Given the description of an element on the screen output the (x, y) to click on. 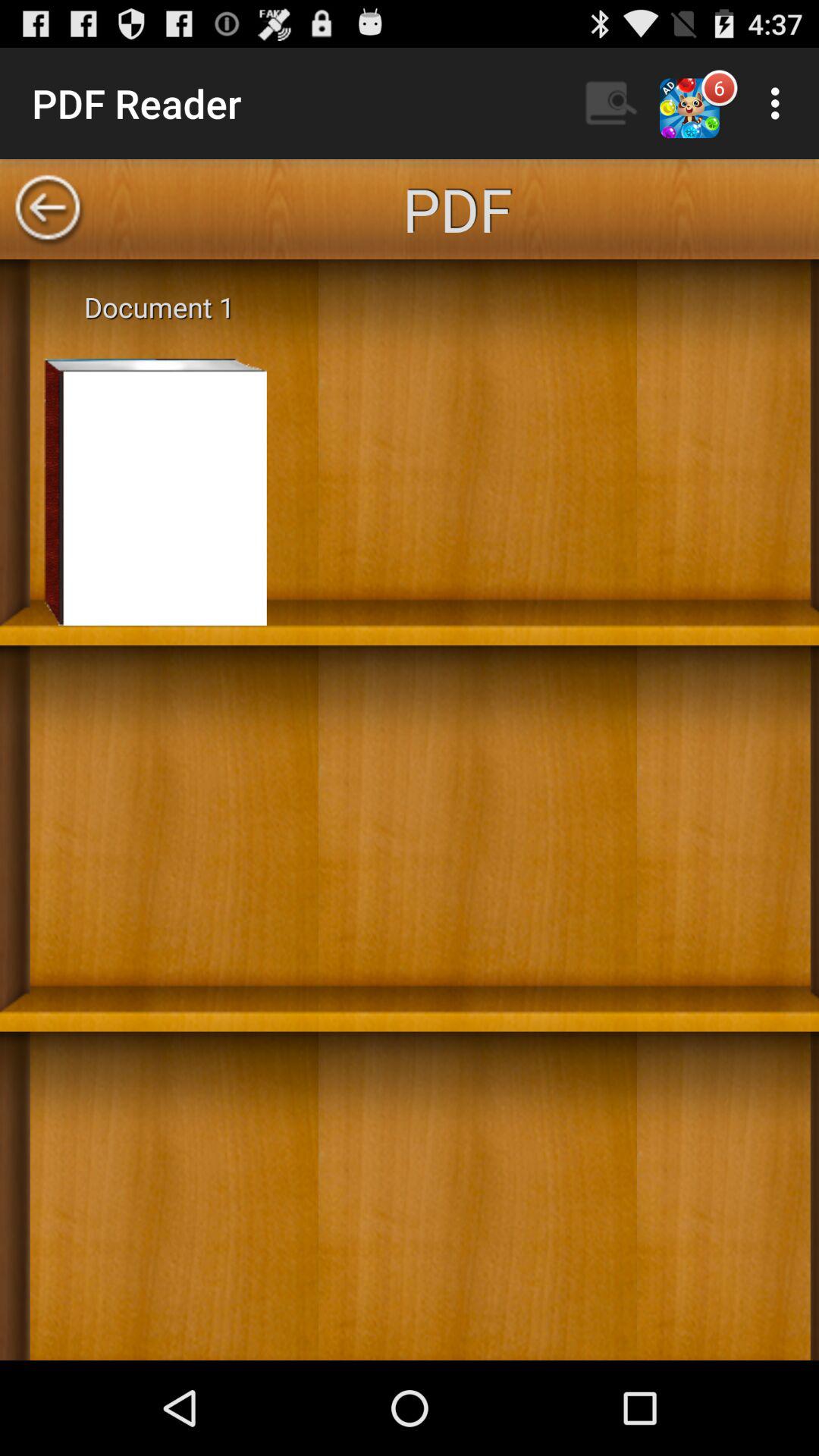
back (47, 209)
